Given the description of an element on the screen output the (x, y) to click on. 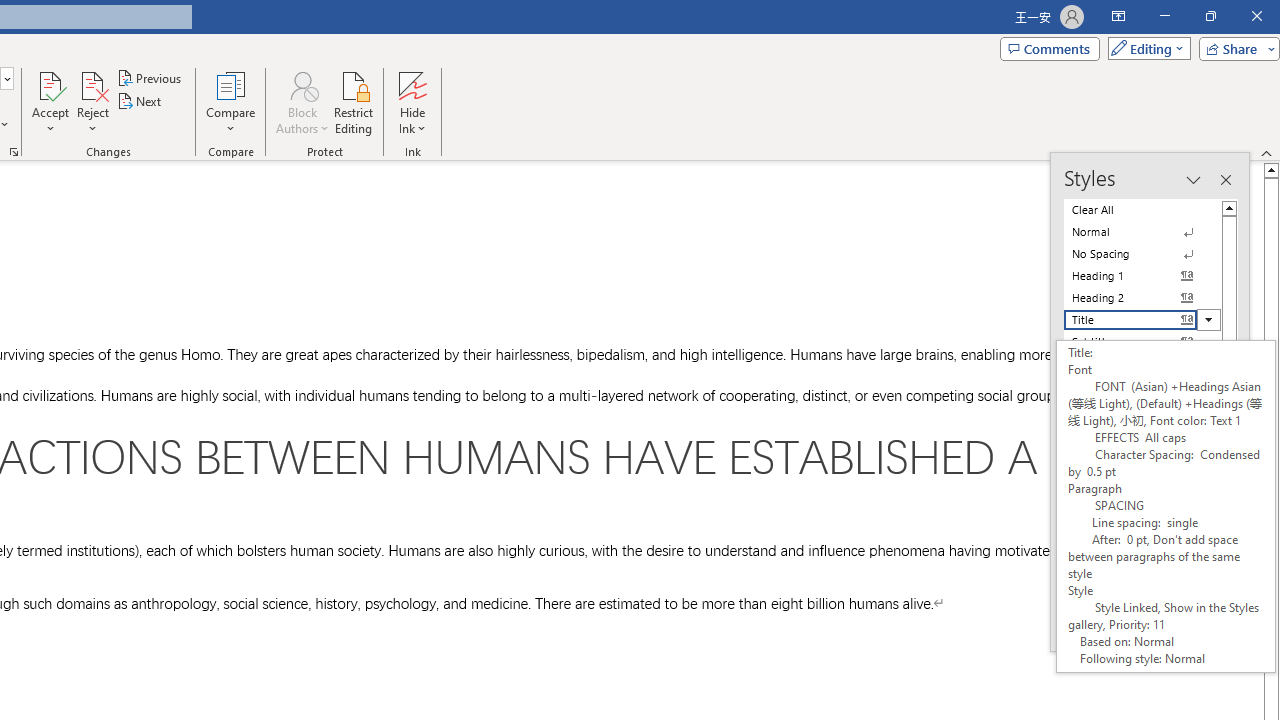
Intense Emphasis (1142, 407)
Reject (92, 102)
Intense Reference (1142, 517)
Hide Ink (412, 102)
Reject and Move to Next (92, 84)
Subtle Emphasis (1142, 363)
Show Preview (1110, 577)
Normal (1142, 232)
Clear All (1142, 209)
